Given the description of an element on the screen output the (x, y) to click on. 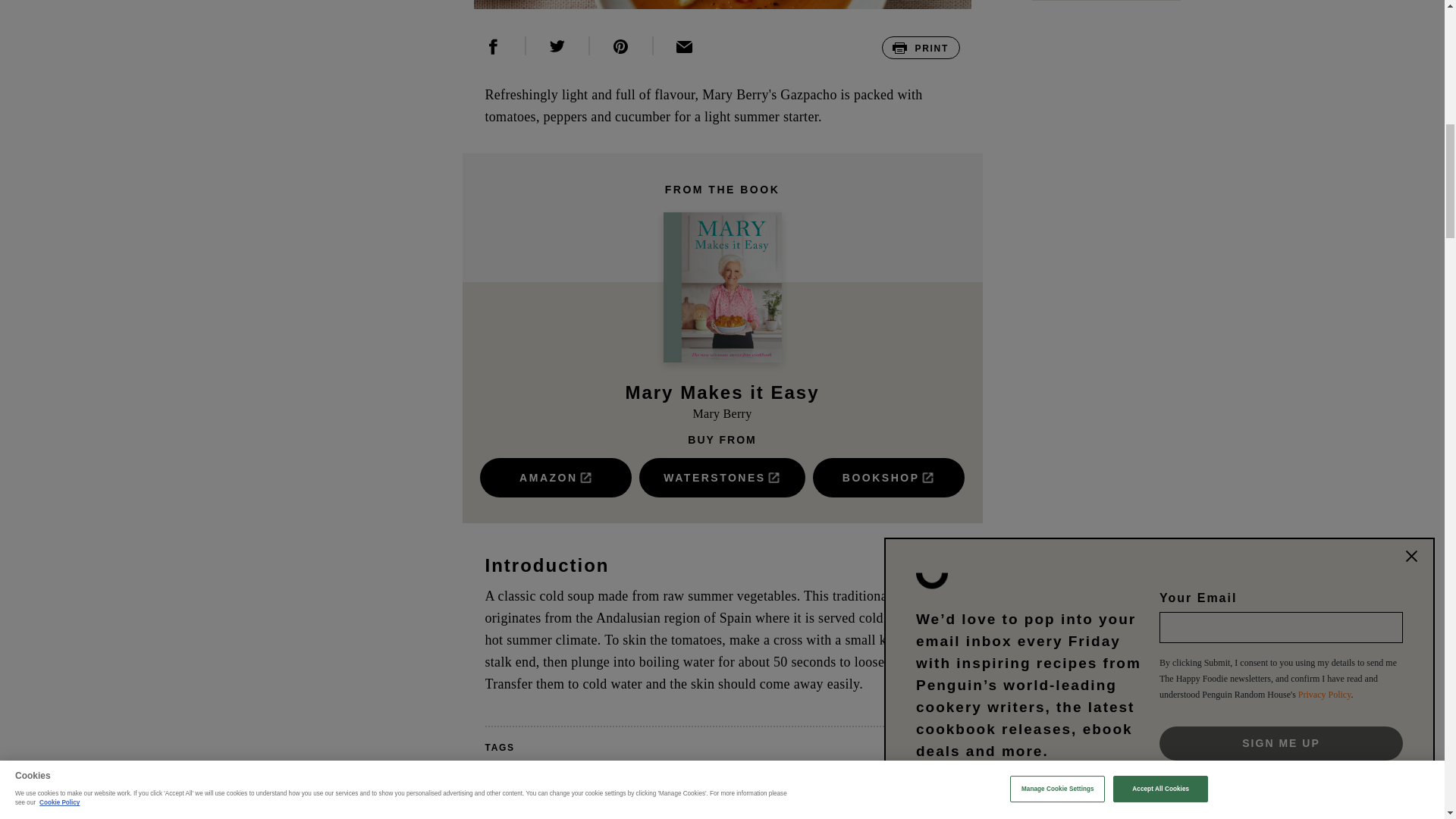
Share by Email (684, 45)
